Given the description of an element on the screen output the (x, y) to click on. 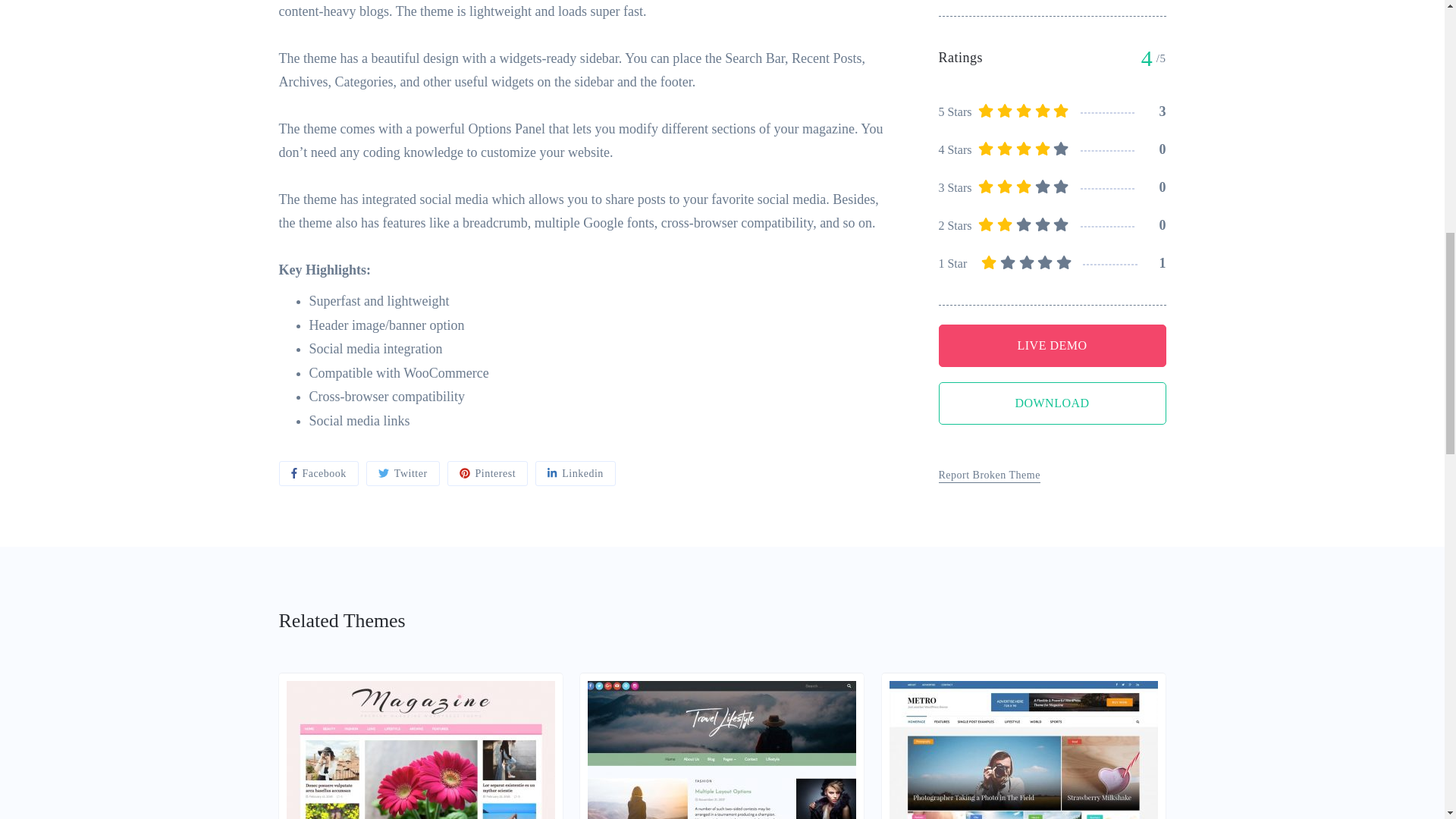
linkedin (575, 473)
Report Broken Theme (990, 155)
facebook (318, 473)
DOWNLOAD (1052, 82)
pinterest (487, 473)
twitter (402, 473)
LIVE DEMO (1052, 24)
